Given the description of an element on the screen output the (x, y) to click on. 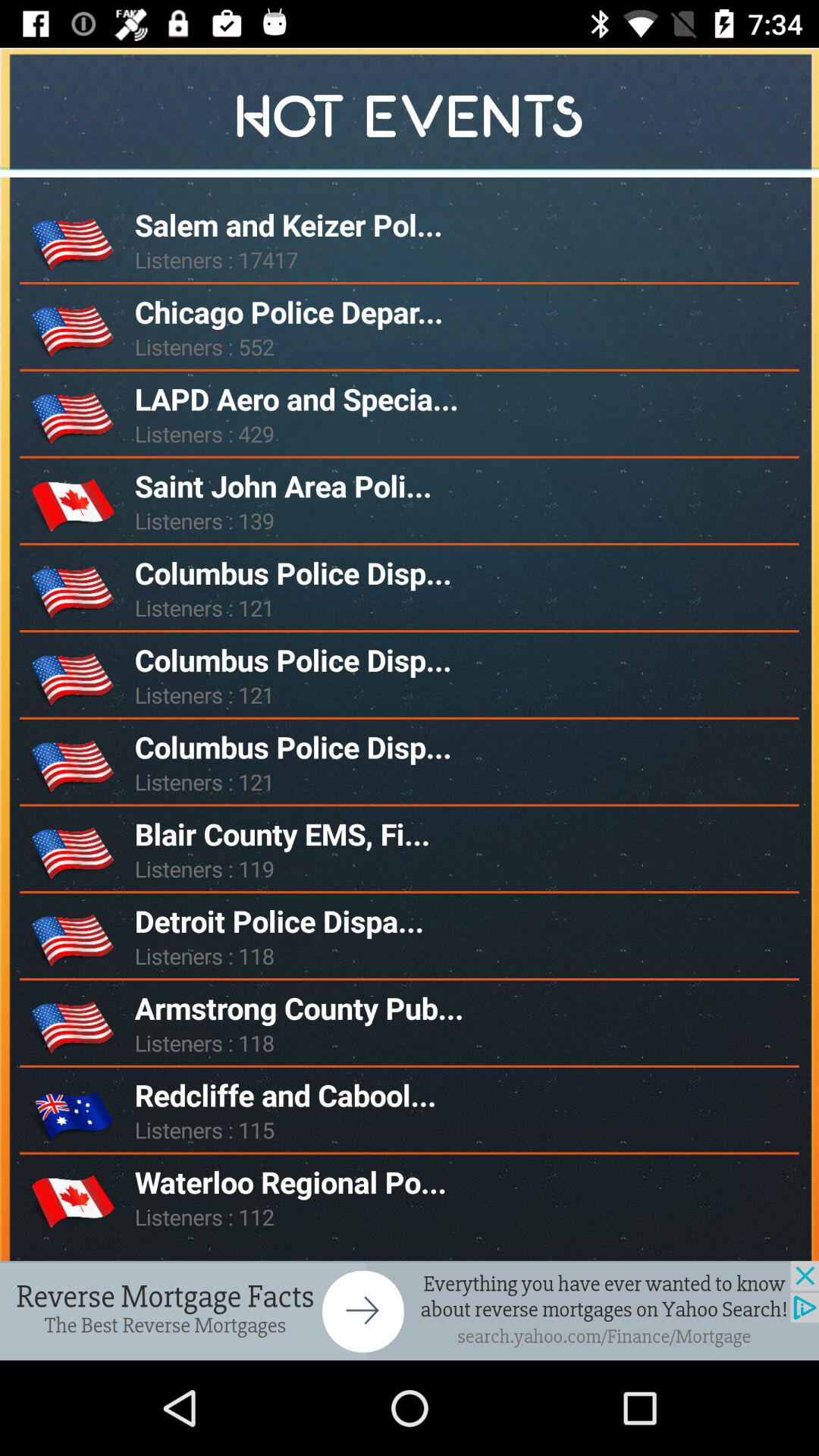
advertisement (409, 1310)
